Given the description of an element on the screen output the (x, y) to click on. 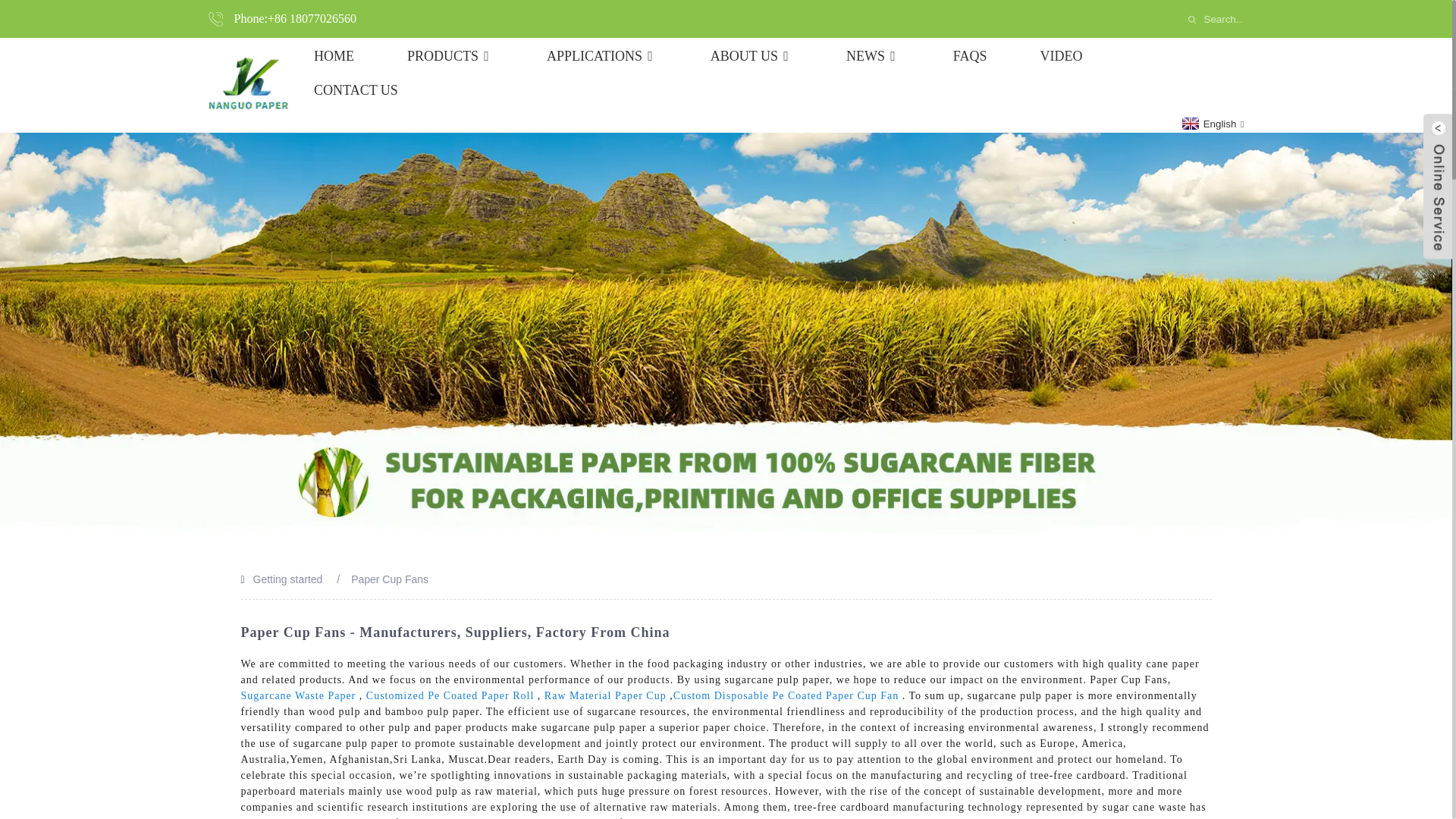
Raw Material Paper Cup (605, 695)
Sugarcane Waste Paper (298, 695)
Custom Disposable Pe Coated Paper Cup Fan (785, 695)
English (1210, 123)
Sugarcane Waste Paper (298, 695)
Custom Disposable Pe Coated Paper Cup Fan (785, 695)
ABOUT US (751, 56)
NEWS (872, 56)
Getting started (288, 579)
Paper Cup Fans (389, 579)
Customized Pe Coated Paper Roll (450, 695)
Customized Pe Coated Paper Roll (450, 695)
HOME (333, 56)
CONTACT US (355, 89)
PRODUCTS (450, 56)
